Given the description of an element on the screen output the (x, y) to click on. 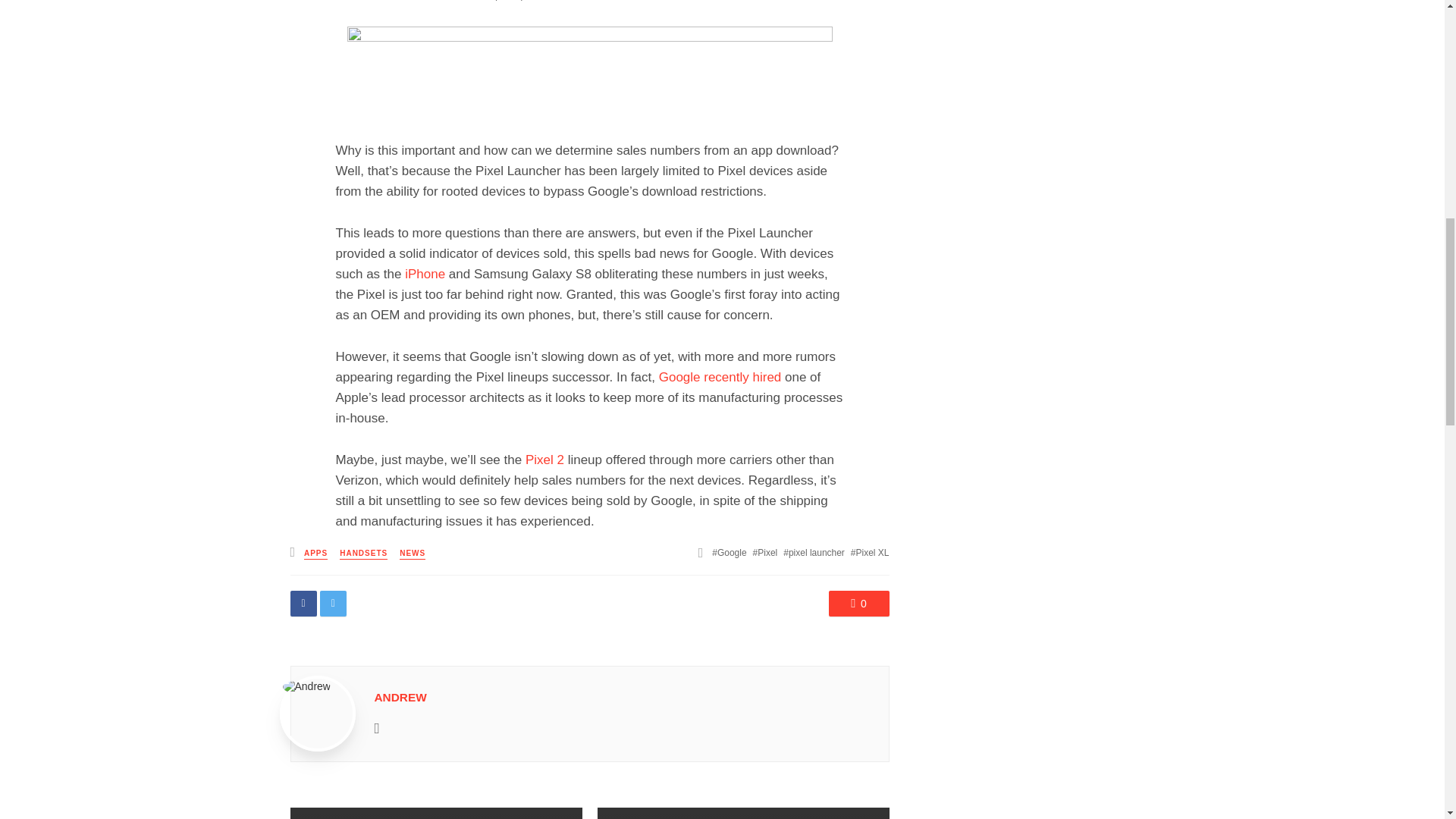
iPhone (424, 273)
pixel launcher (813, 552)
NEWS (411, 553)
Posts by Andrew (400, 697)
Google recently hired (720, 377)
0 Comments (858, 603)
Pixel (764, 552)
HANDSETS (363, 553)
Share on Twitter (333, 603)
